Given the description of an element on the screen output the (x, y) to click on. 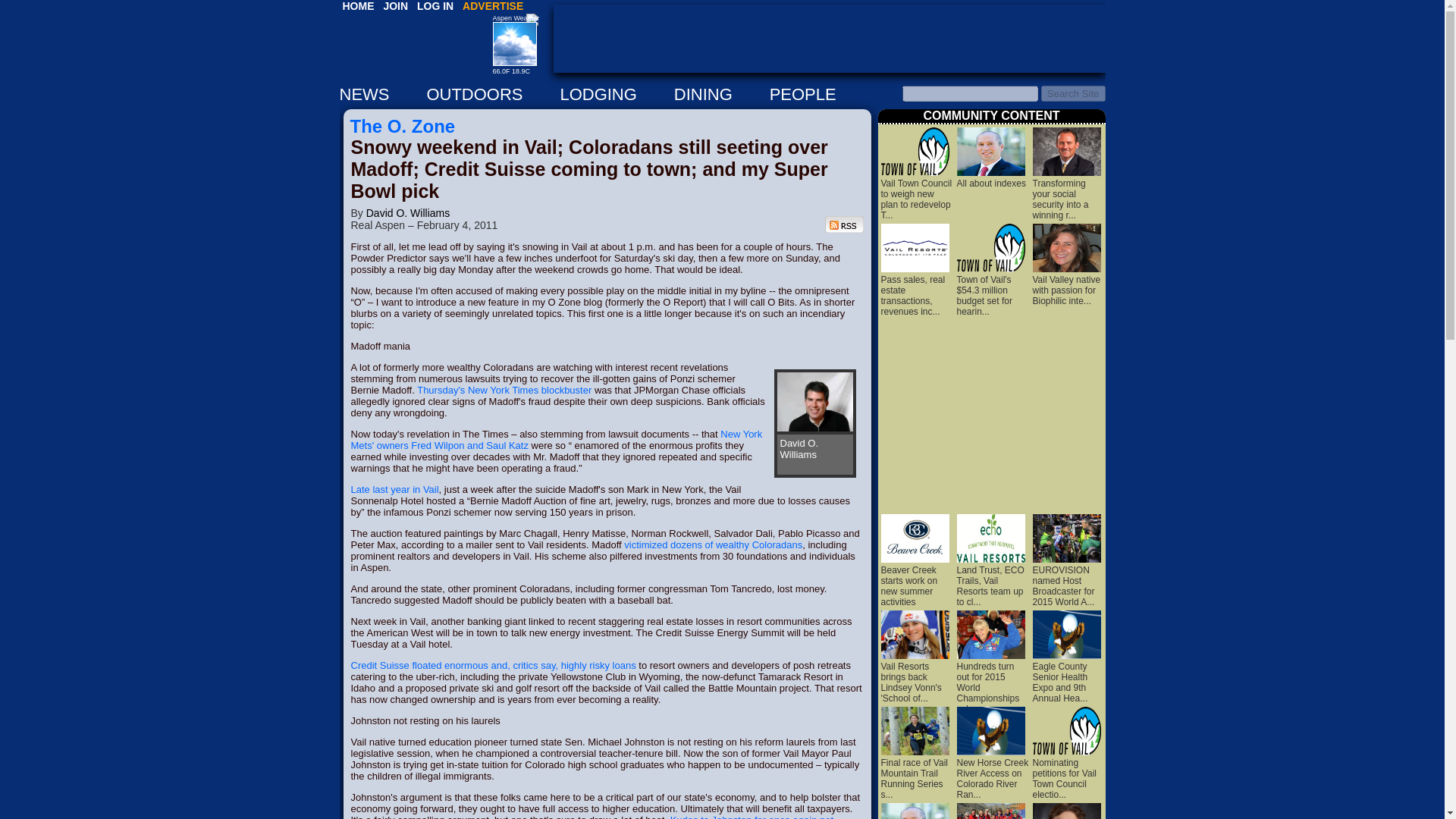
David O. Williams (407, 213)
The O. Zone (402, 126)
Vail Town Council to weigh new plan to redevelop T... (916, 193)
Thursday's New York Times blockbuster (503, 389)
COMMUNITY CONTENT (991, 115)
Beaver Creek starts work on new summer activities (914, 580)
Beaver Creek starts work on new summer activities (914, 580)
Late last year in Vail (394, 489)
Vail Valley native with passion for Biophilic inte... (1066, 284)
PEOPLE (820, 94)
